Given the description of an element on the screen output the (x, y) to click on. 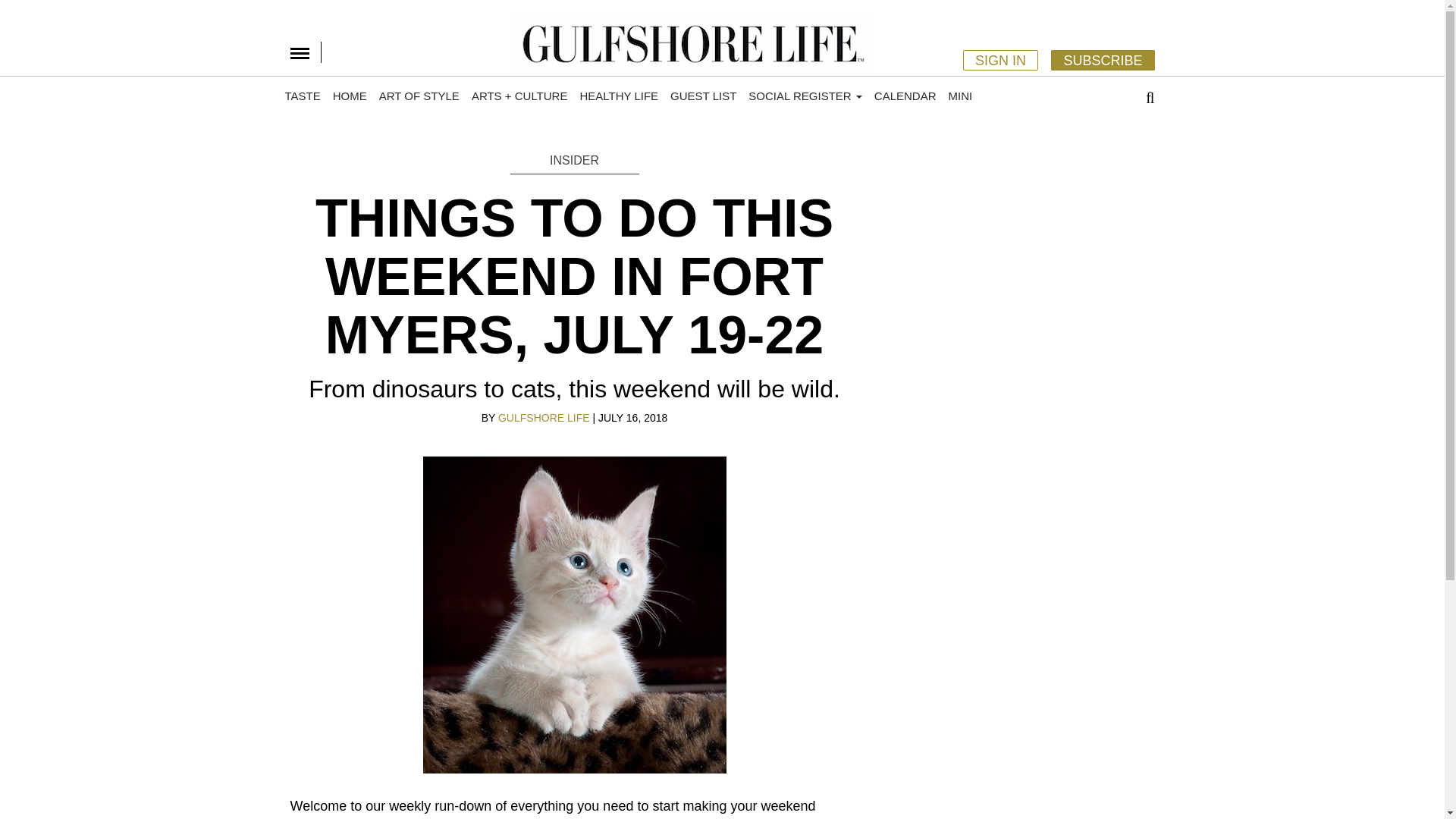
SOCIAL REGISTER (804, 96)
ART OF STYLE (418, 96)
TASTE (302, 96)
MINI (960, 96)
CALENDAR (904, 96)
HEALTHY LIFE (618, 96)
HOME (349, 96)
GUEST LIST (702, 96)
SIGN IN (1000, 59)
INSIDER (574, 160)
